Given the description of an element on the screen output the (x, y) to click on. 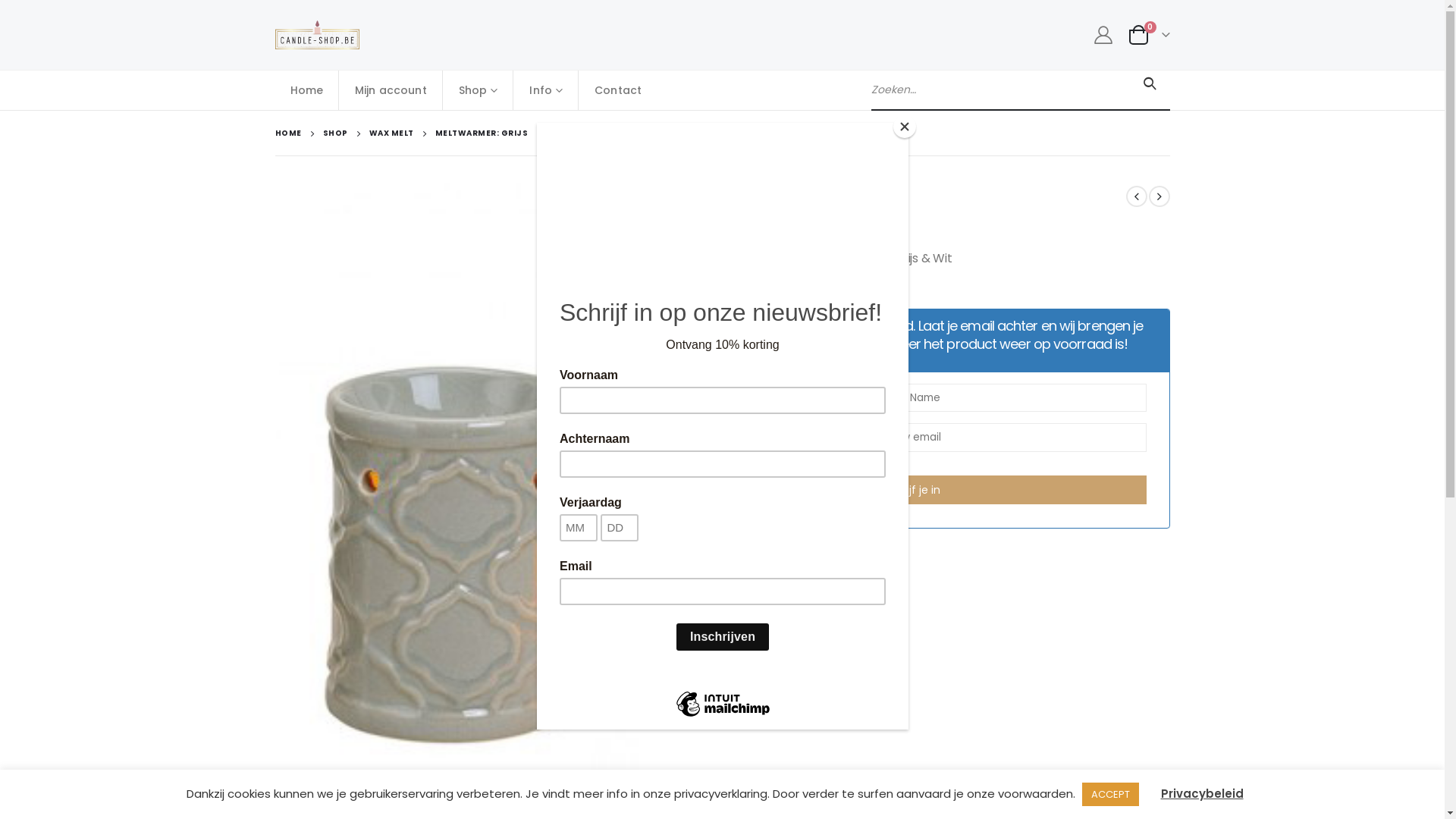
Home Element type: text (306, 89)
Schrijf je in Element type: text (911, 489)
Candle-shop - Yankee Candle Element type: hover (316, 34)
Zoeken Element type: hover (1149, 84)
My Account Element type: hover (1103, 34)
HOME Element type: text (287, 133)
Privacybeleid Element type: text (1201, 793)
SHOP Element type: text (335, 133)
ADD TO WISHLIST Element type: text (704, 568)
WAX MELT Element type: text (390, 133)
Info Element type: text (546, 89)
ACCEPT Element type: text (1109, 794)
Contact Element type: text (617, 89)
Mijn account Element type: text (390, 89)
Shop Element type: text (478, 89)
